Given the description of an element on the screen output the (x, y) to click on. 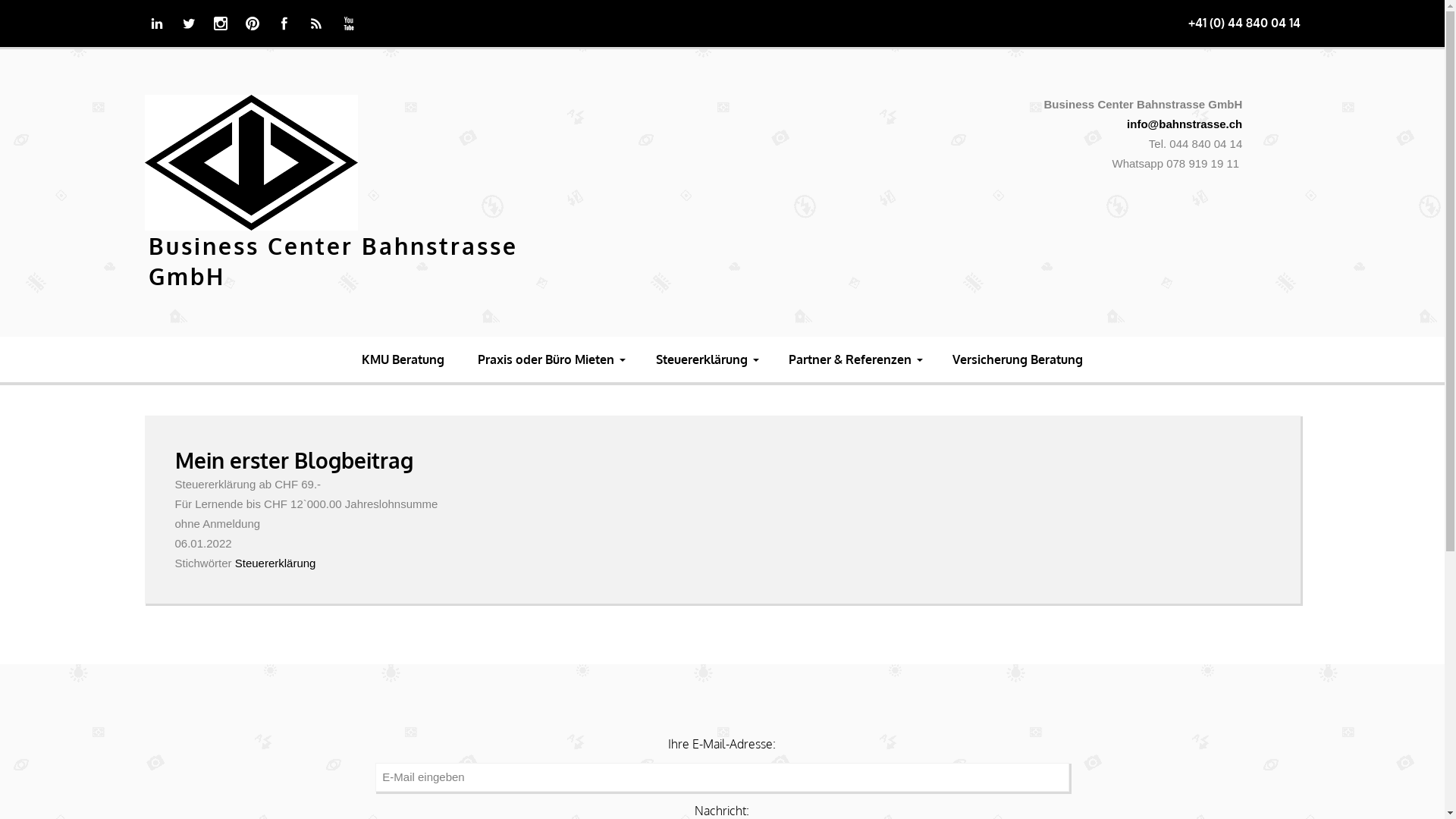
Instagram Element type: text (220, 23)
Business Center Bahnstrasse GmbH Element type: text (332, 260)
Facebook Element type: text (284, 23)
KMU Beratung Element type: text (402, 359)
Pinterest Element type: text (252, 23)
Linkedin Element type: text (156, 23)
Youtube Element type: text (348, 23)
info@bahnstrasse.ch Element type: text (1184, 123)
Versicherung Beratung Element type: text (1017, 359)
Twitter Element type: text (188, 23)
Rss Element type: text (316, 23)
